Given the description of an element on the screen output the (x, y) to click on. 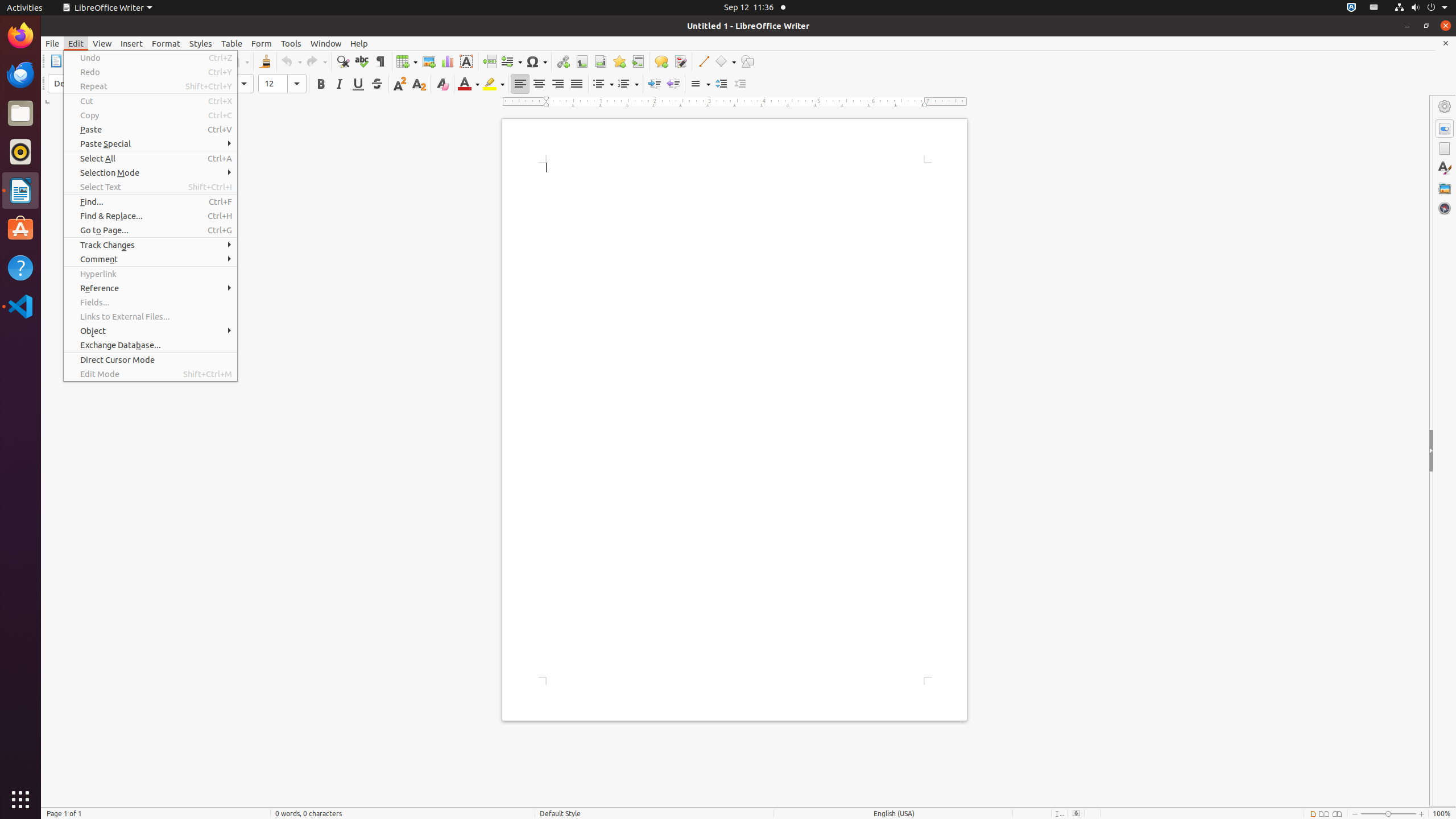
System Element type: menu (1420, 7)
Go to Page... Element type: menu-item (150, 229)
Hyperlink Element type: toggle-button (562, 61)
Tools Element type: menu (290, 43)
Justified Element type: toggle-button (576, 83)
